Given the description of an element on the screen output the (x, y) to click on. 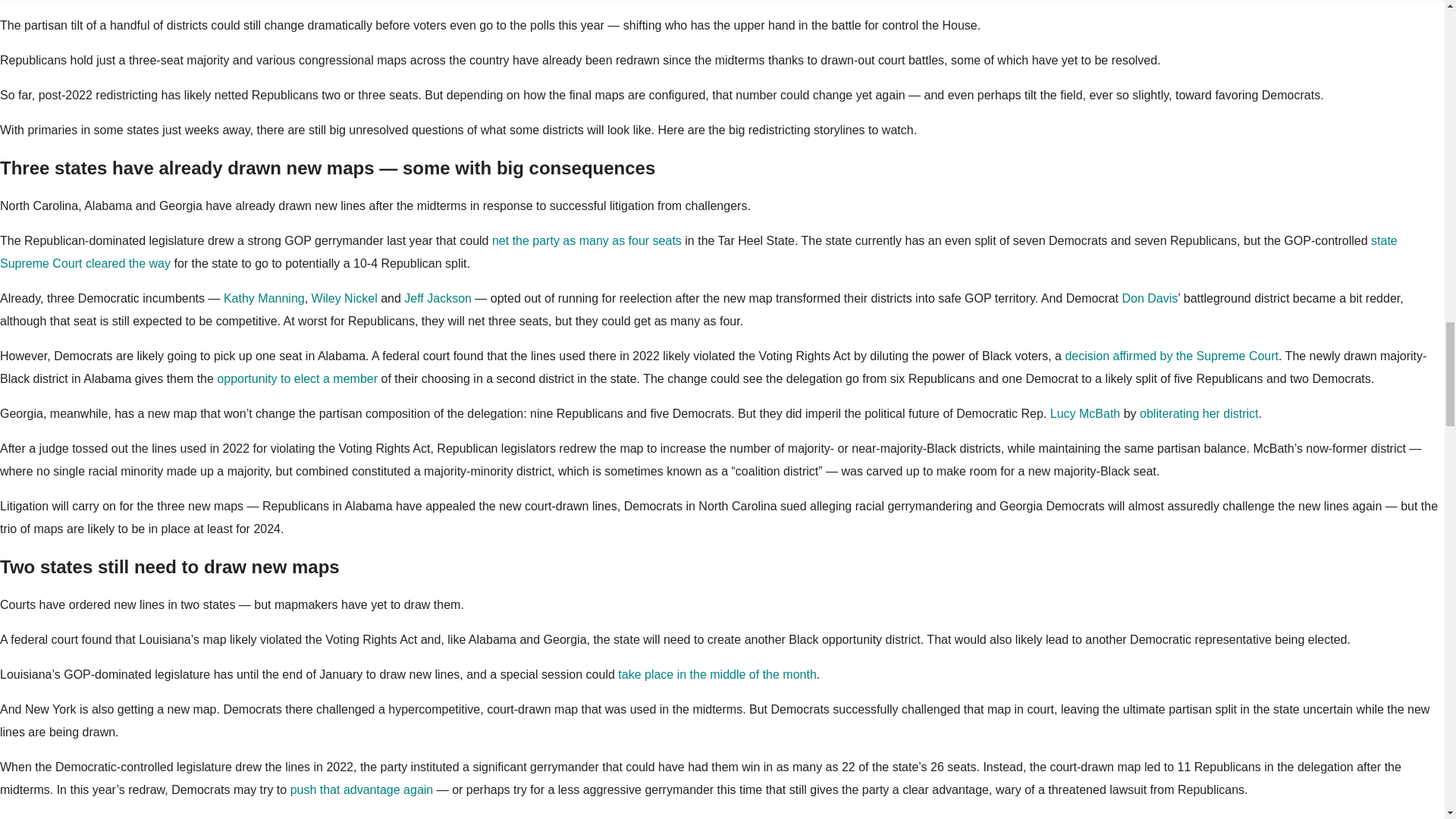
net the party as many as four seats (586, 240)
decision affirmed by the Supreme Court (1171, 355)
obliterating her district (1199, 413)
take place in the middle of the month (716, 674)
Kathy Manning (264, 297)
push that advantage again (361, 789)
Lucy McBath (1084, 413)
state Supreme Court cleared the way (698, 252)
opportunity to elect a member (296, 378)
Don Davis (1149, 297)
Wiley Nickel (344, 297)
Jeff Jackson (437, 297)
